Given the description of an element on the screen output the (x, y) to click on. 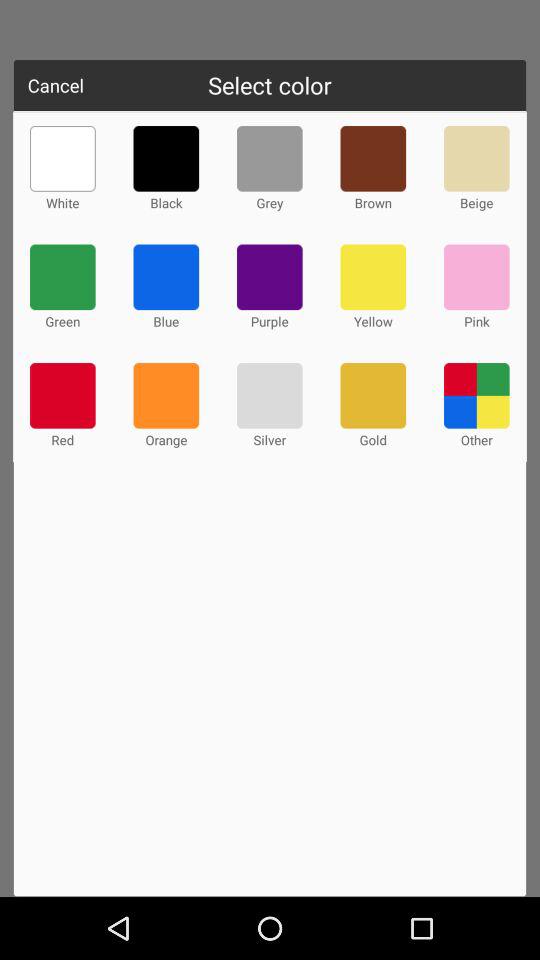
flip to cancel (55, 85)
